Given the description of an element on the screen output the (x, y) to click on. 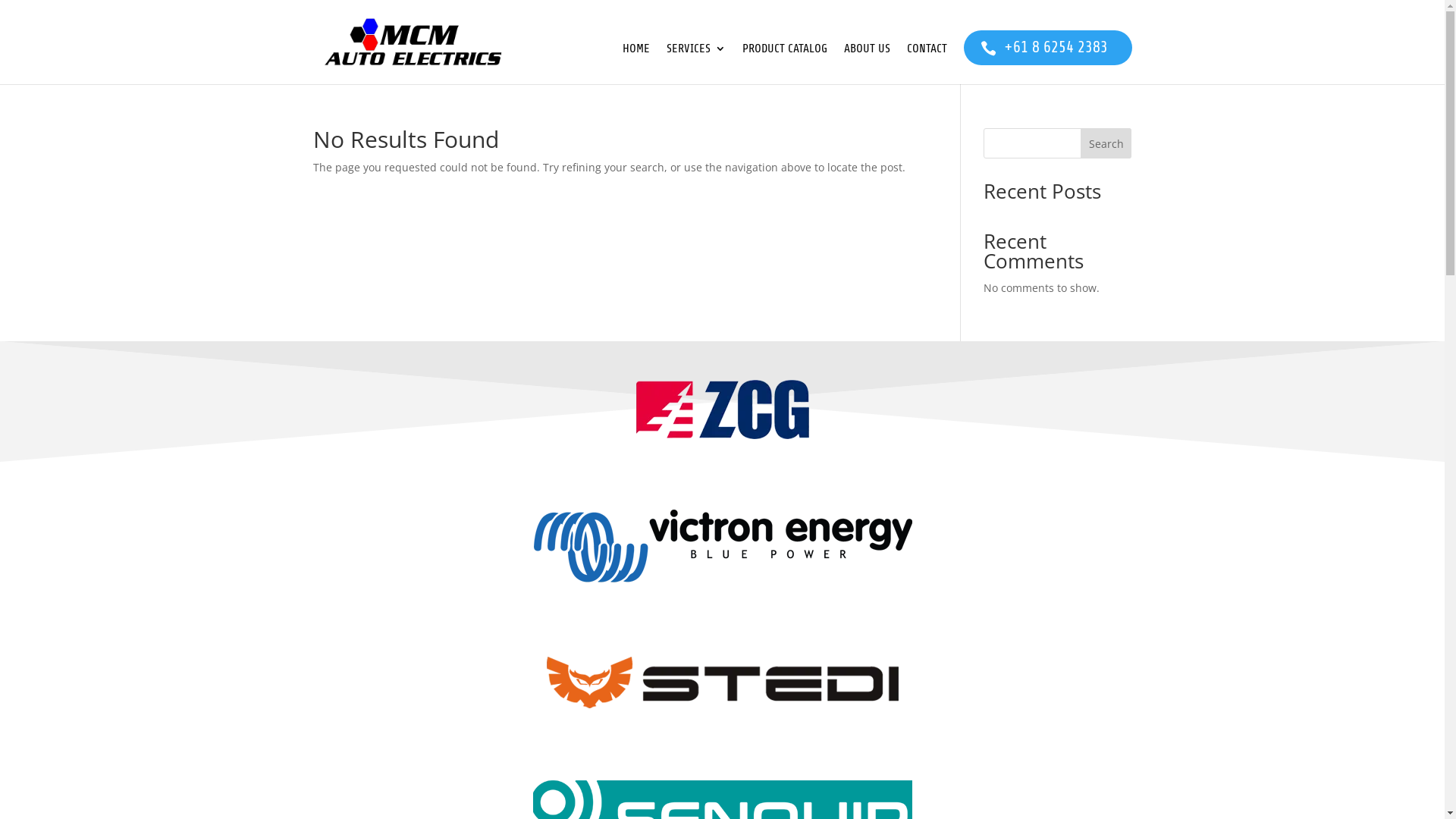
ABOUT US Element type: text (866, 63)
PRODUCT CATALOG Element type: text (783, 63)
HOME Element type: text (635, 63)
CONTACT Element type: text (926, 63)
Search Element type: text (1106, 143)
SERVICES Element type: text (694, 63)
+61 8 6254 2383 Element type: text (1047, 47)
